Given the description of an element on the screen output the (x, y) to click on. 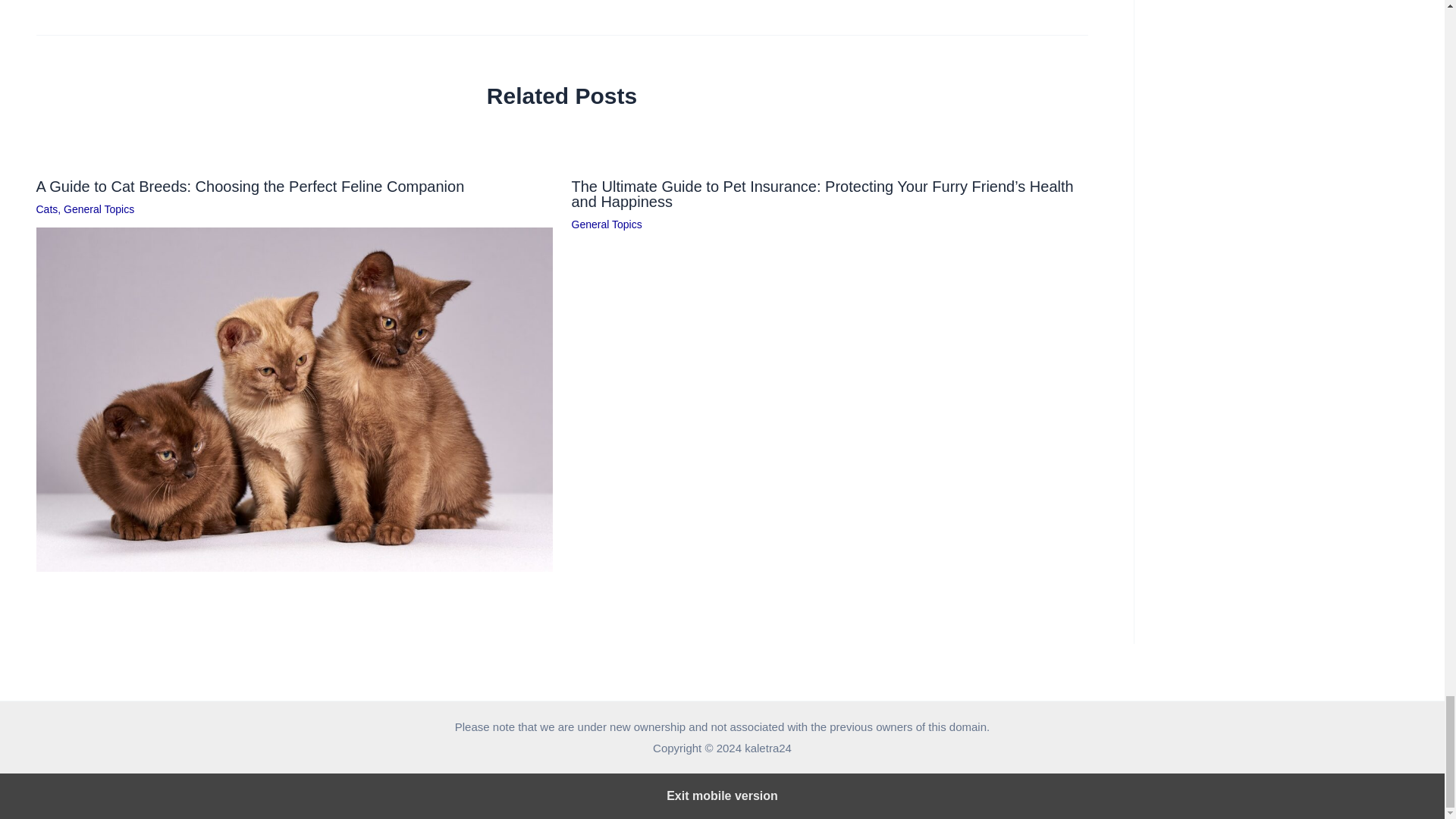
General Topics (98, 209)
A Guide to Cat Breeds: Choosing the Perfect Feline Companion (250, 186)
Cats (47, 209)
General Topics (607, 224)
